Given the description of an element on the screen output the (x, y) to click on. 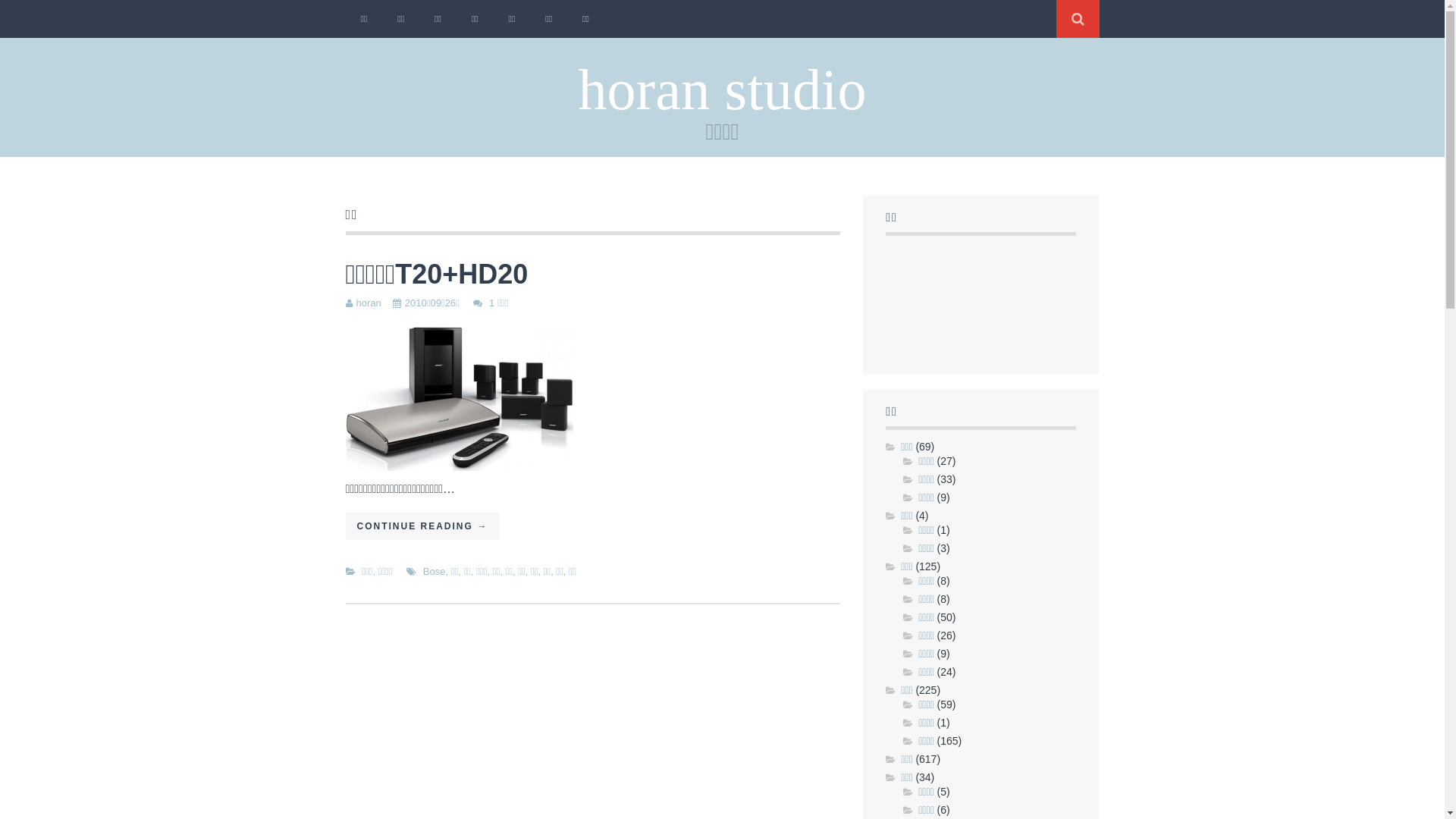
Bose Element type: text (434, 571)
horan studio Element type: text (721, 89)
horan Element type: text (368, 302)
